Given the description of an element on the screen output the (x, y) to click on. 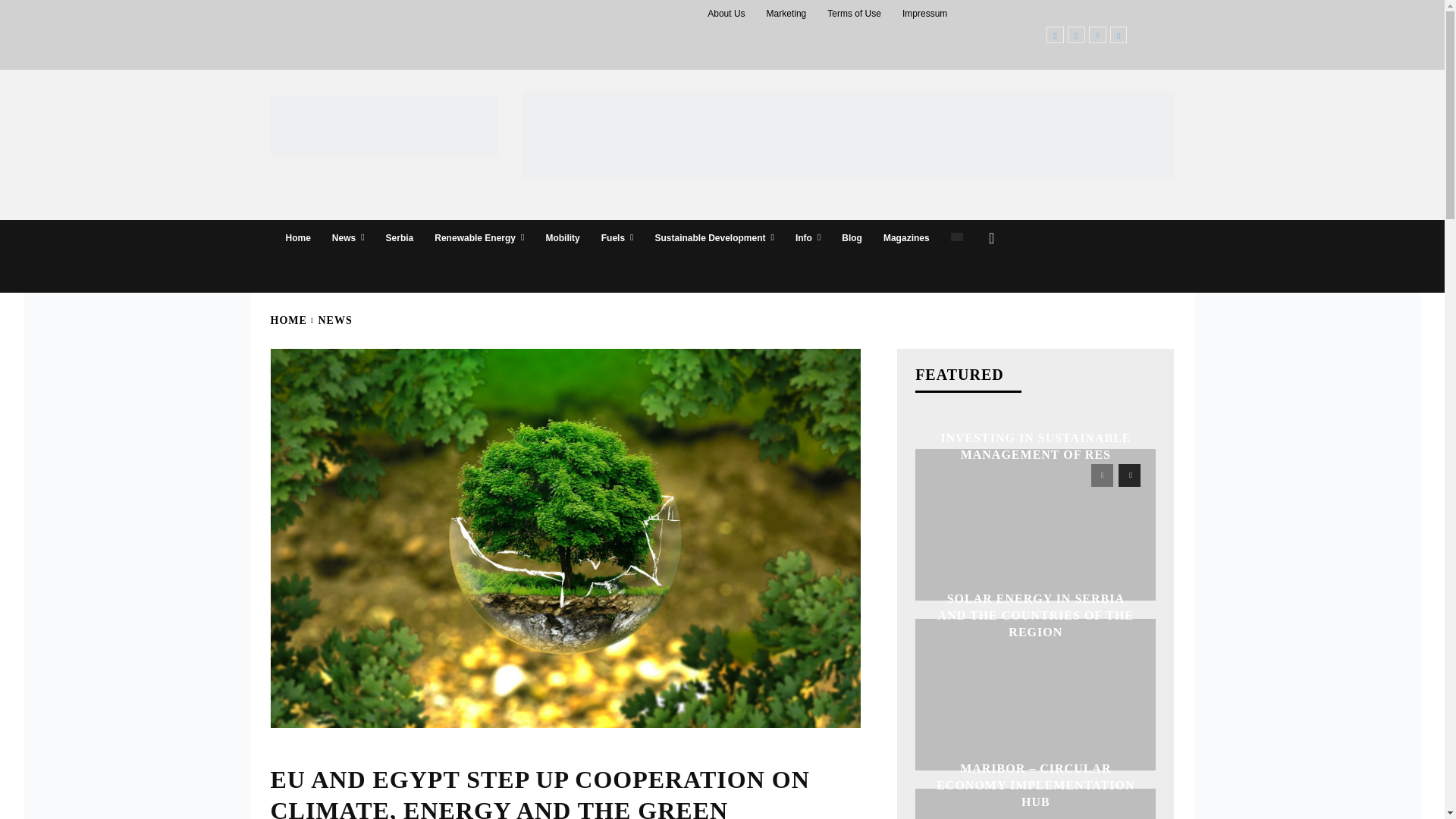
Twitter (1117, 35)
Linkedin (1097, 35)
Instagram (1075, 35)
Facebook (1055, 35)
View all posts in News (335, 319)
